Given the description of an element on the screen output the (x, y) to click on. 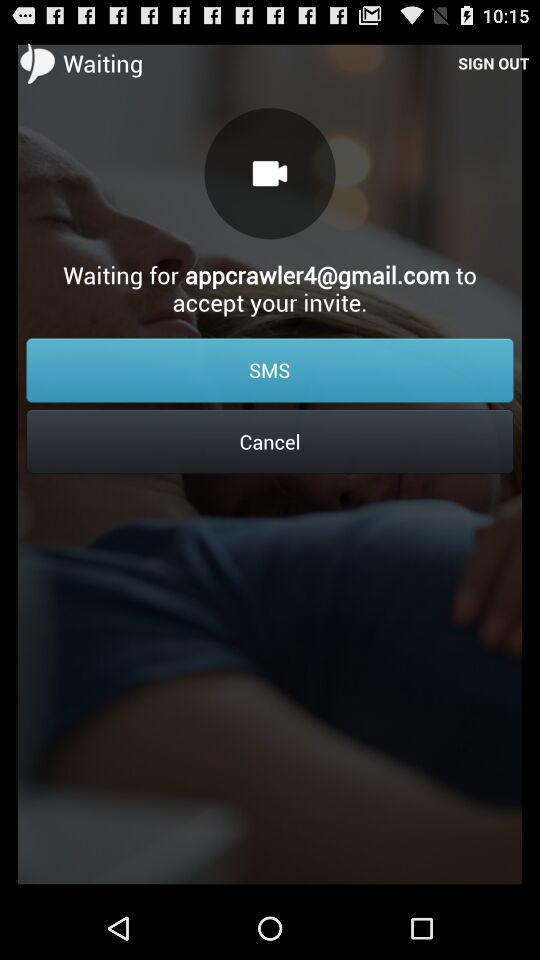
select the icon below the sms item (269, 441)
